Given the description of an element on the screen output the (x, y) to click on. 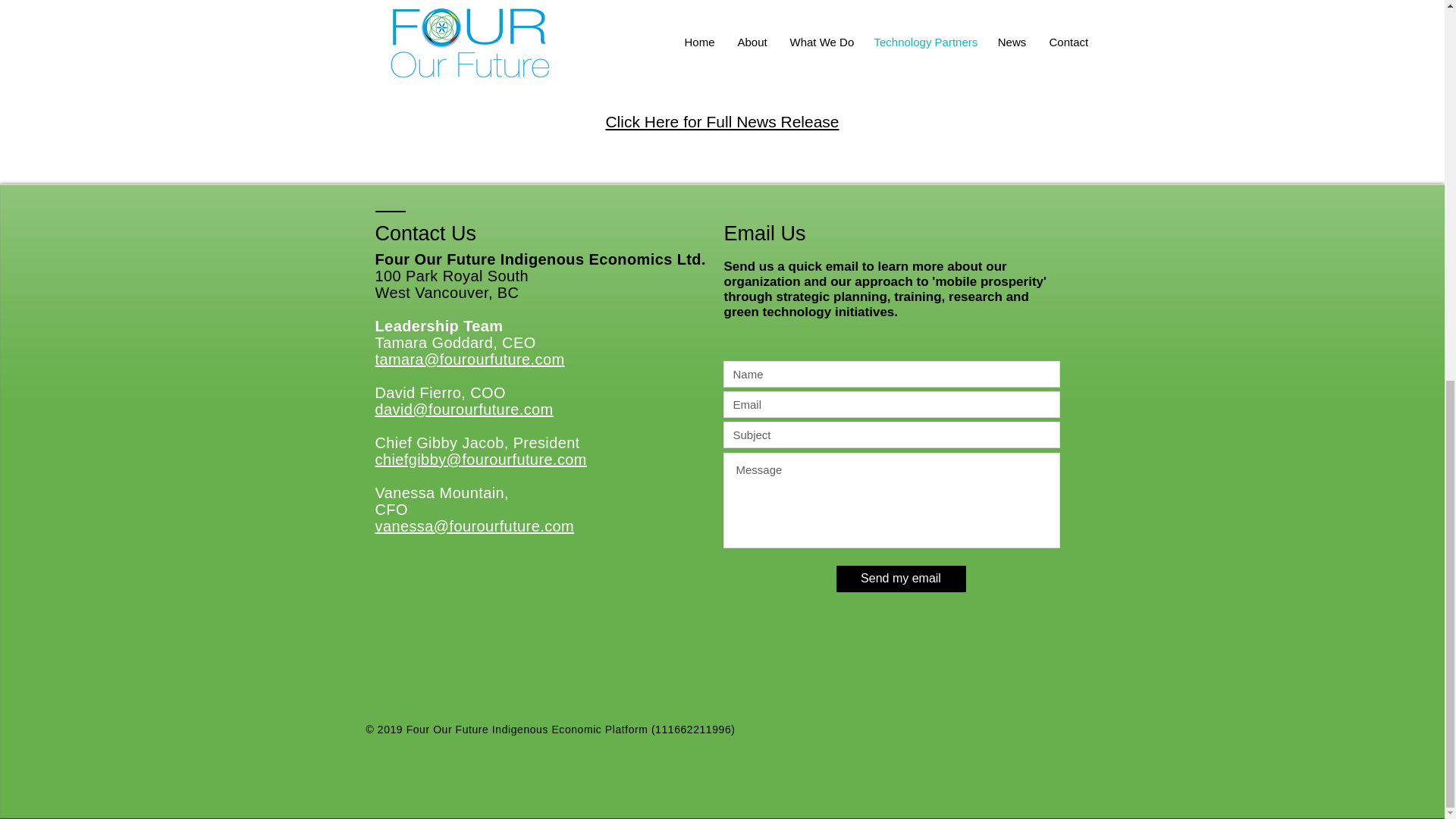
Send my email (900, 578)
Click Here for Full News Release (721, 121)
